Given the description of an element on the screen output the (x, y) to click on. 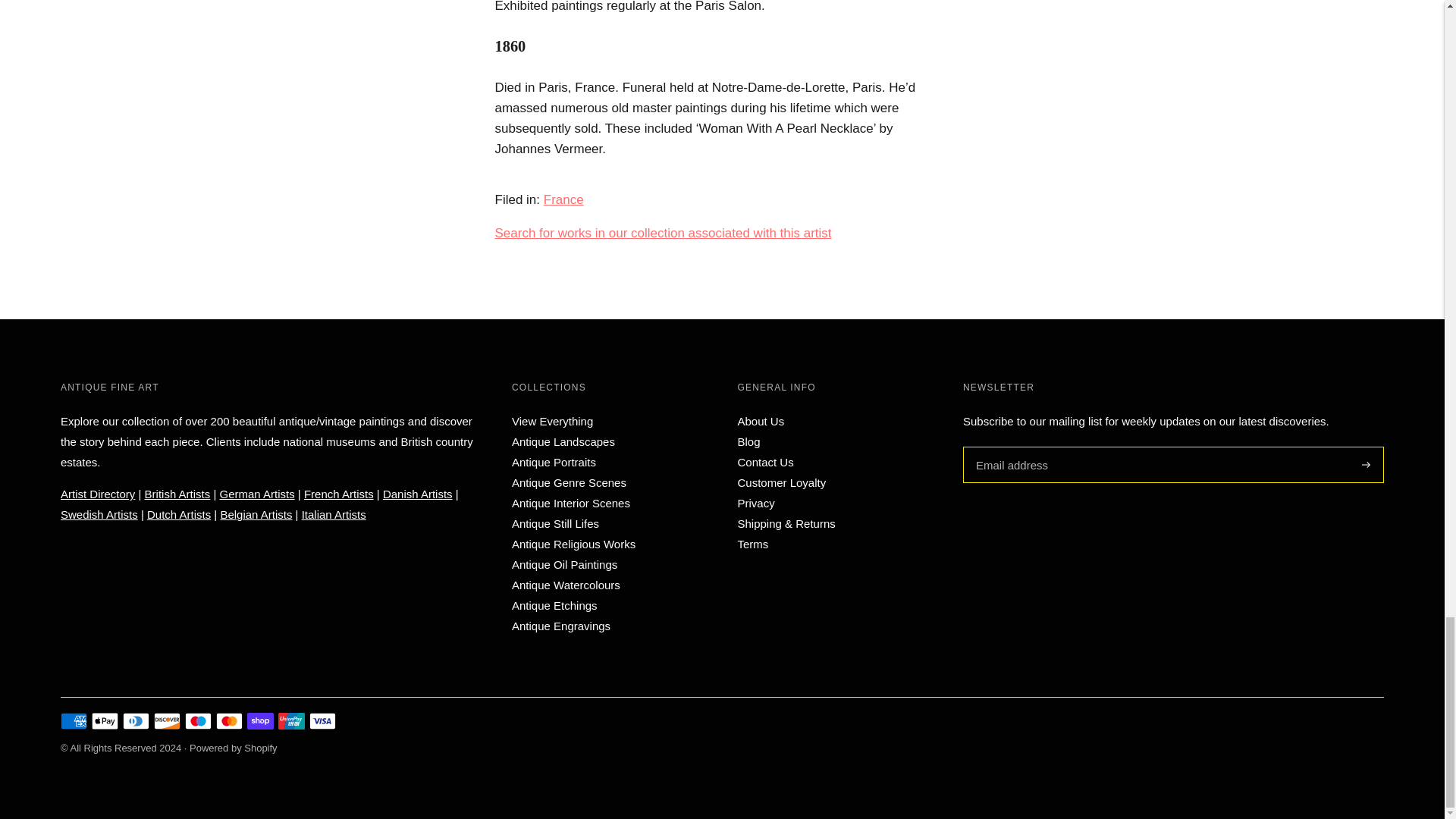
German Artists (257, 493)
Dutch Artists (179, 513)
Diners Club (135, 720)
Danish Artists (417, 493)
Italian Artists (333, 513)
Mastercard (229, 720)
Union Pay (291, 720)
Maestro (197, 720)
Swedish Artists (99, 513)
Shop Pay (260, 720)
American Express (74, 720)
Belgian Artists (255, 513)
Artist Directory (98, 493)
Visa (322, 720)
Apple Pay (104, 720)
